Given the description of an element on the screen output the (x, y) to click on. 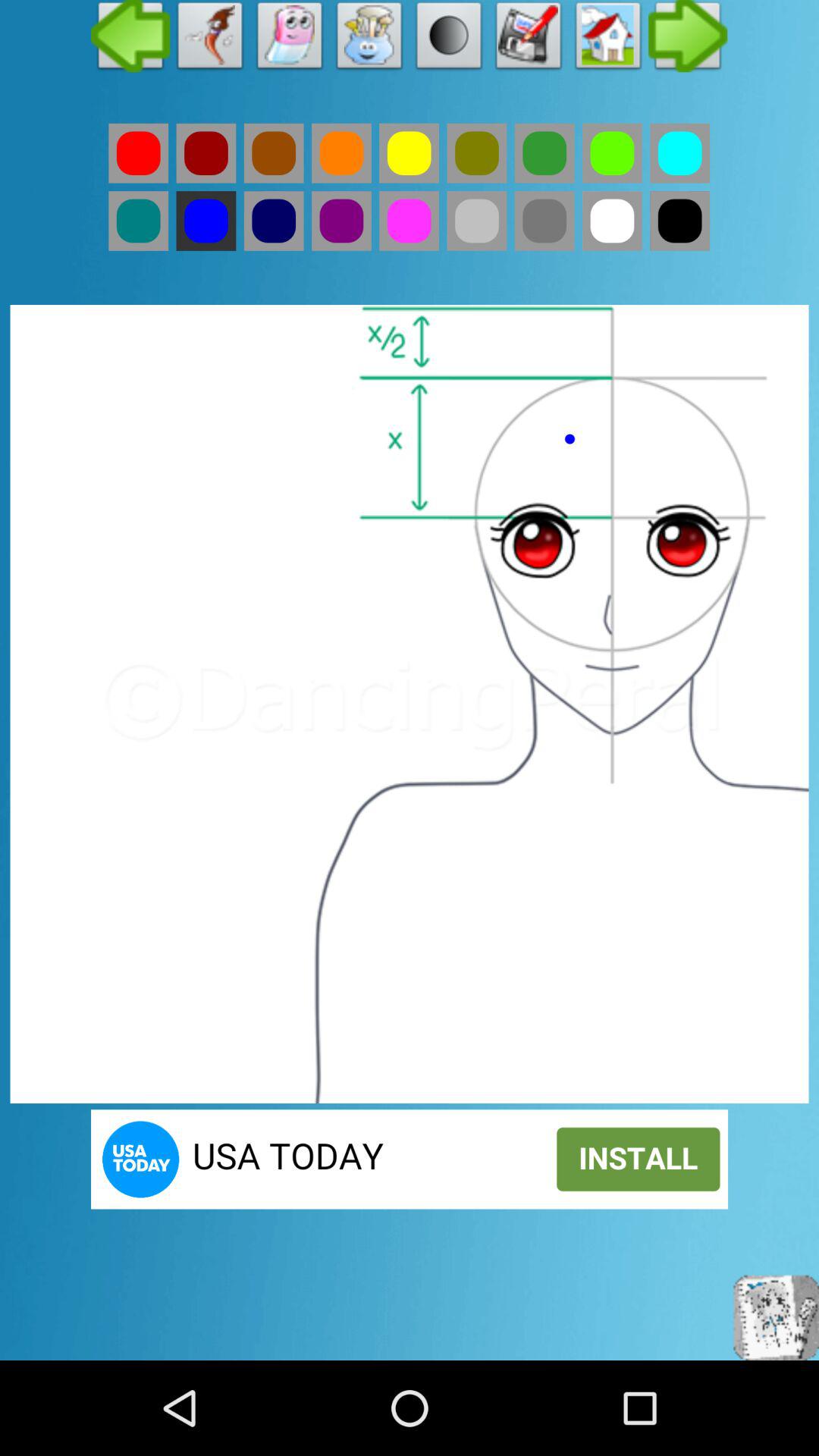
select to color option (612, 220)
